Given the description of an element on the screen output the (x, y) to click on. 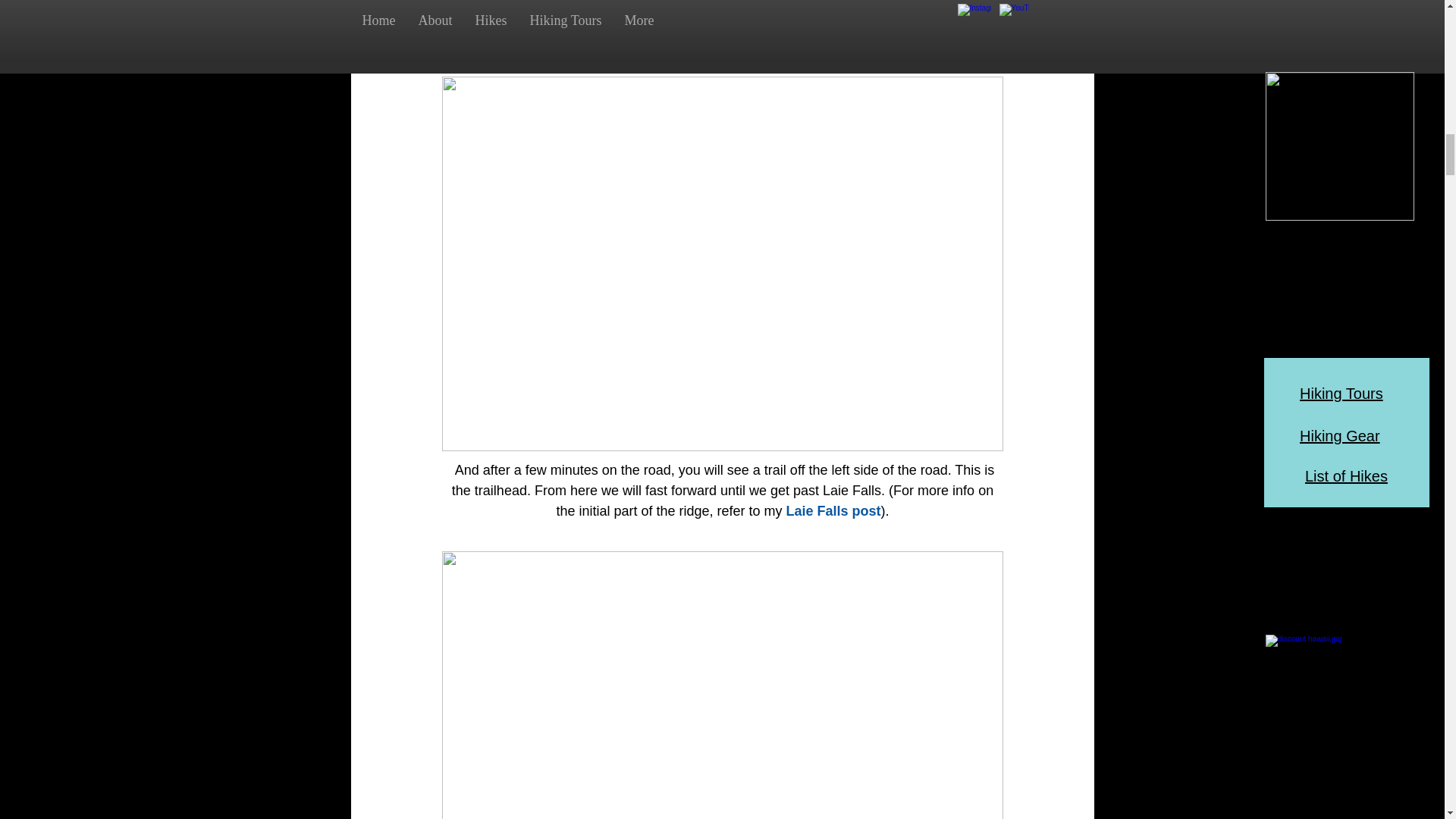
Laie Falls post (833, 510)
